Given the description of an element on the screen output the (x, y) to click on. 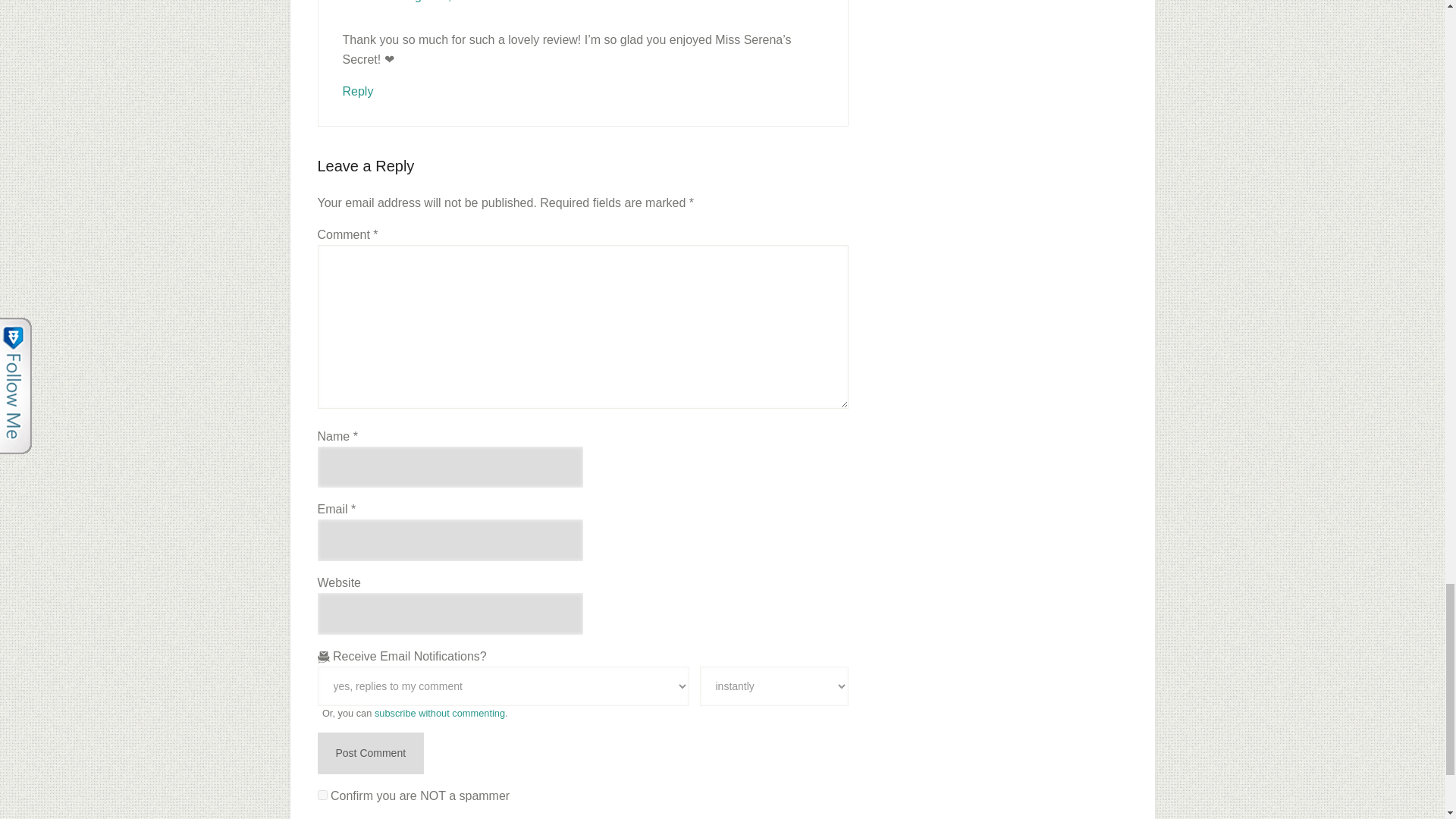
Receive Notifications? (502, 685)
on (321, 795)
subscribe without commenting (439, 713)
Reply (358, 91)
Notify Me (772, 685)
Post Comment (370, 752)
Post Comment (370, 752)
August 8, 2018 at 6:40 PM (471, 1)
